Given the description of an element on the screen output the (x, y) to click on. 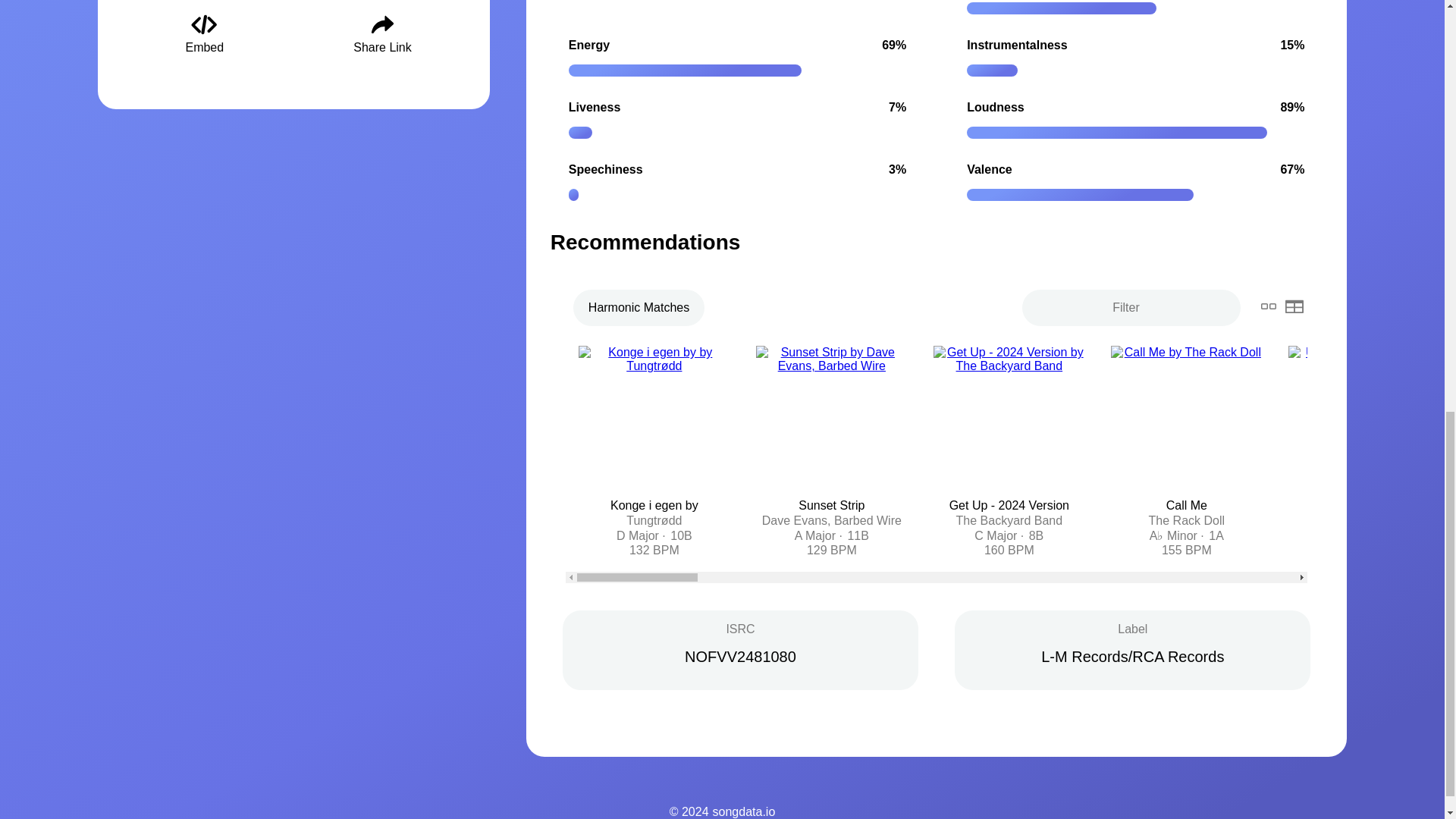
Unlock the Rock (1364, 504)
Call Me (1186, 504)
Sunset Strip (830, 504)
Konge i egen by (654, 504)
Get Up - 2024 Version (1008, 504)
